Given the description of an element on the screen output the (x, y) to click on. 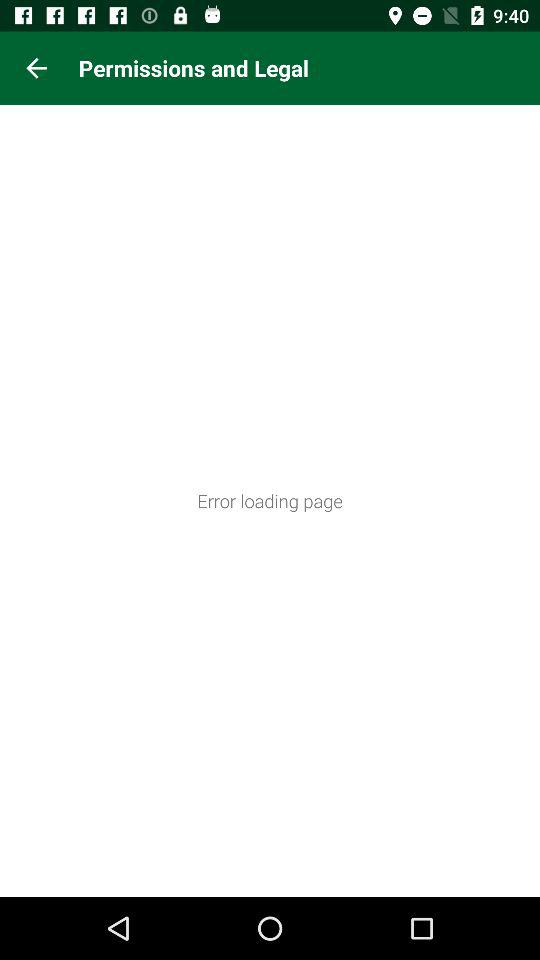
open the icon next to the permissions and legal (36, 68)
